Given the description of an element on the screen output the (x, y) to click on. 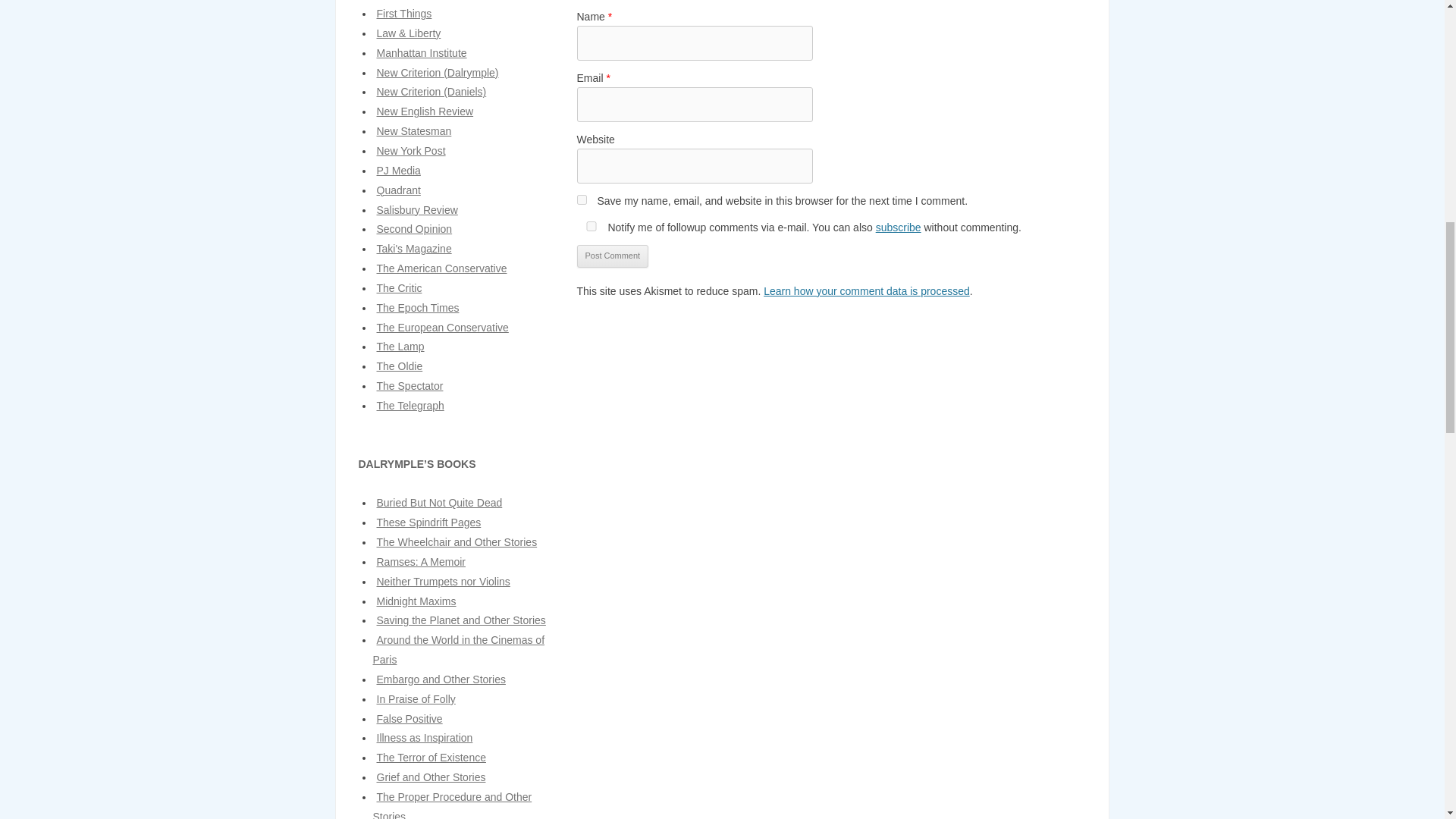
yes (590, 225)
Post Comment (611, 255)
yes (581, 199)
